Given the description of an element on the screen output the (x, y) to click on. 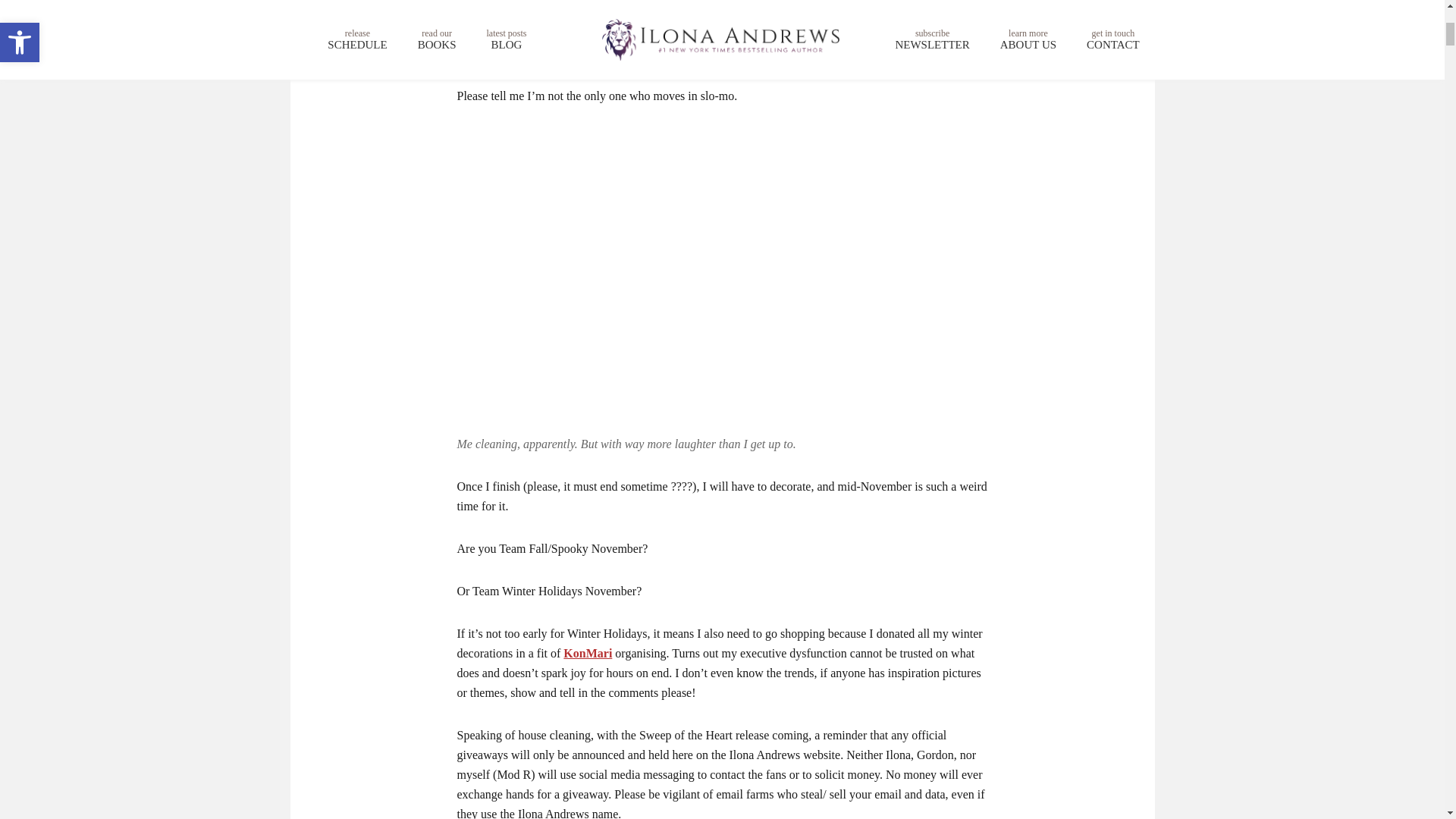
KonMari (587, 653)
